Given the description of an element on the screen output the (x, y) to click on. 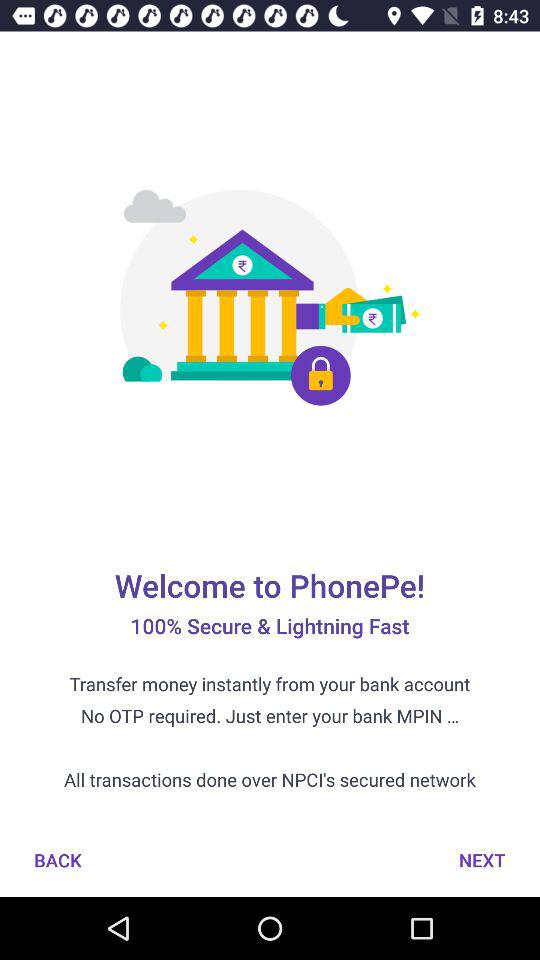
select item next to the next icon (57, 859)
